Given the description of an element on the screen output the (x, y) to click on. 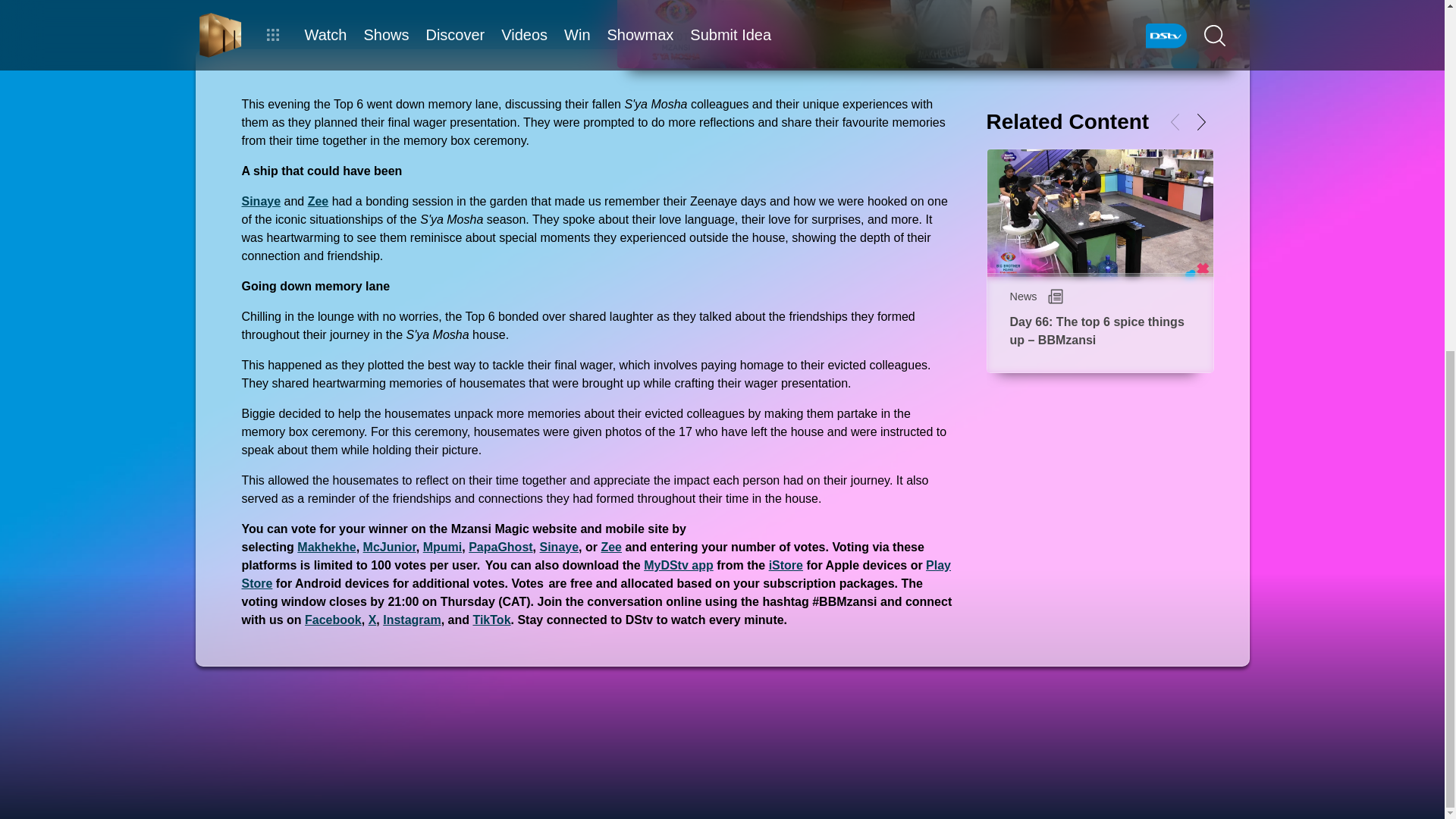
TikTok (491, 619)
Facebook (332, 619)
iStore (785, 564)
Zee (610, 546)
Zee (318, 201)
Instagram (411, 619)
Makhekhe (326, 546)
McJunior (389, 546)
Play Store (595, 573)
Mpumi (443, 546)
Sinaye (261, 201)
PapaGhost (500, 546)
Sinaye (559, 546)
MyDStv app (678, 564)
